Given the description of an element on the screen output the (x, y) to click on. 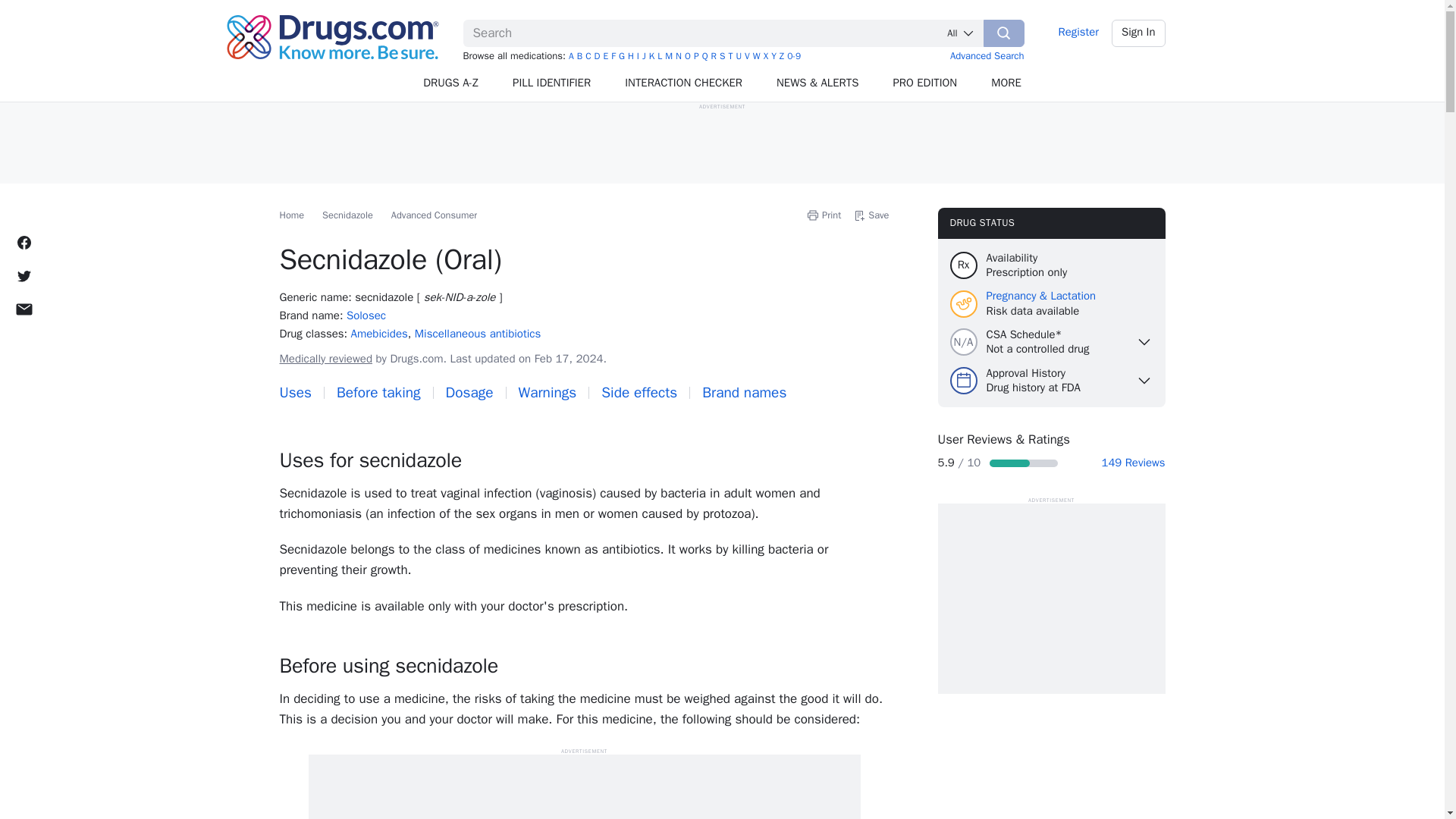
W (756, 55)
F (613, 55)
P (696, 55)
T (730, 55)
V (746, 55)
D (596, 55)
H (630, 55)
C (588, 55)
Y (773, 55)
J (644, 55)
U (738, 55)
L (660, 55)
Q (704, 55)
X (765, 55)
Search (1004, 32)
